Given the description of an element on the screen output the (x, y) to click on. 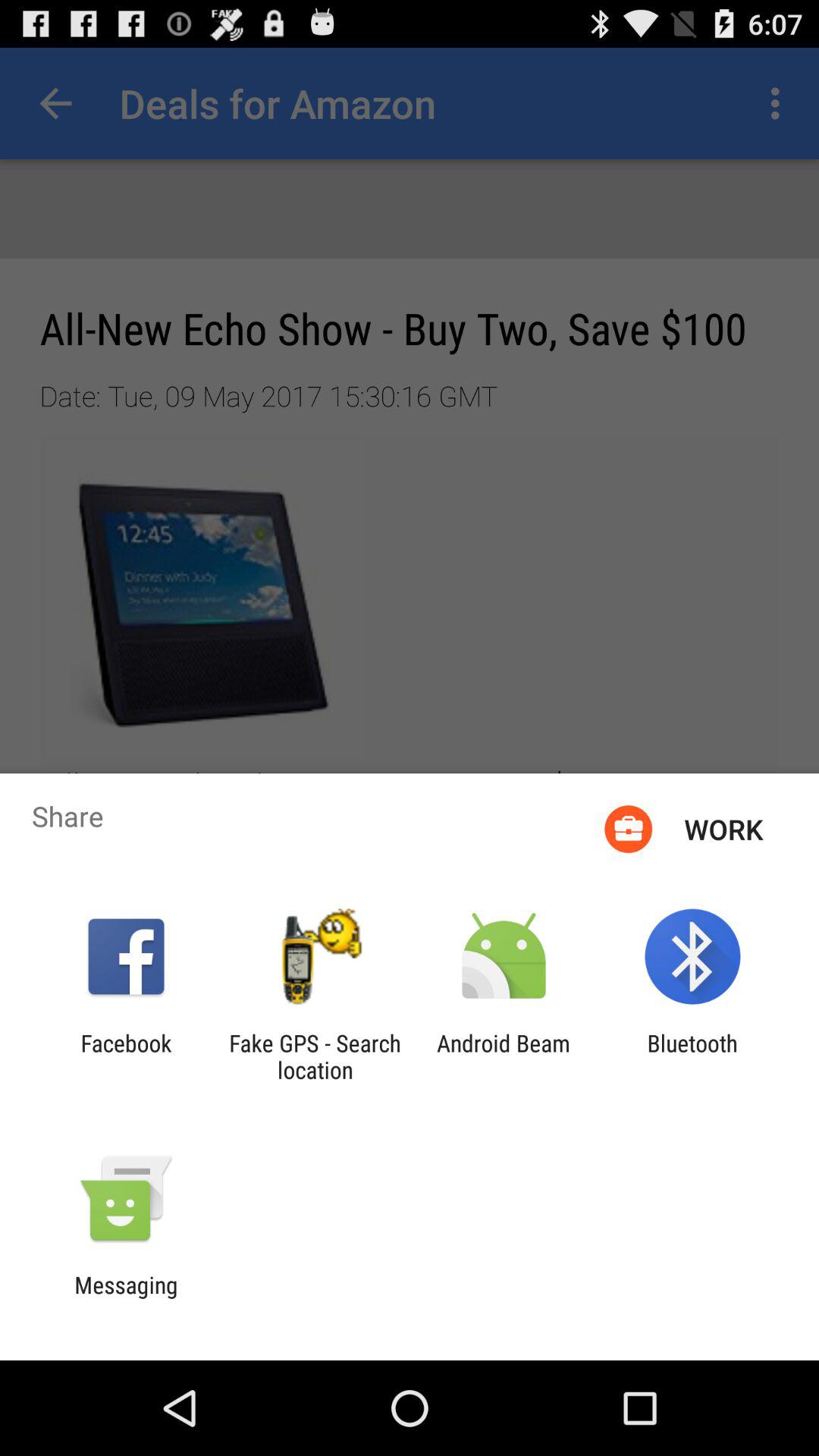
press app at the bottom right corner (692, 1056)
